Given the description of an element on the screen output the (x, y) to click on. 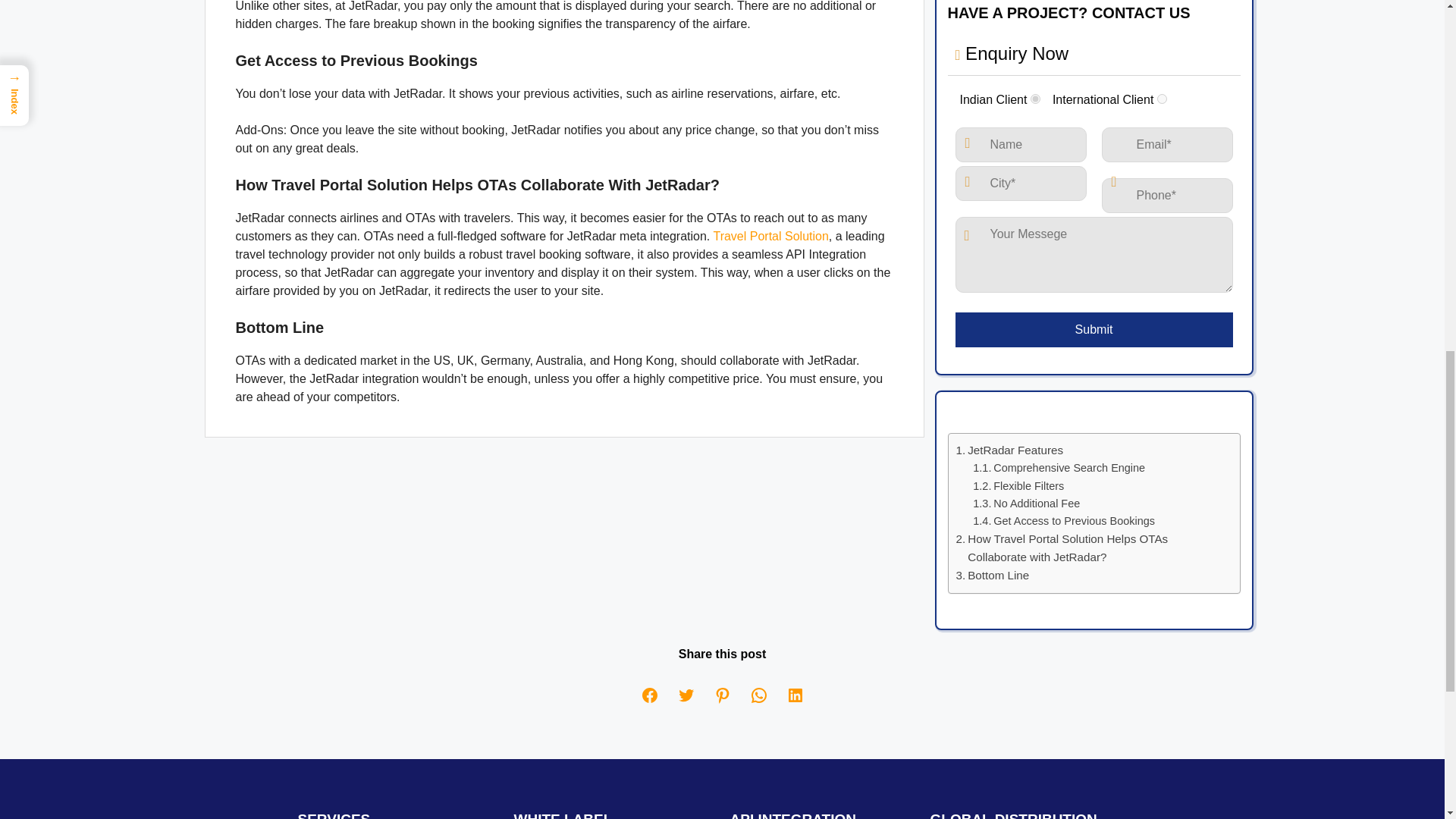
Submit (1094, 329)
No Additional Fee (1026, 503)
International Client (1162, 99)
Flexible Filters (1018, 486)
JetRadar Features (1008, 450)
Comprehensive Search Engine (1058, 467)
Get Access to Previous Bookings (1063, 520)
Bottom Line (992, 575)
Scroll back to top (1406, 720)
Indian Client (1035, 99)
